Given the description of an element on the screen output the (x, y) to click on. 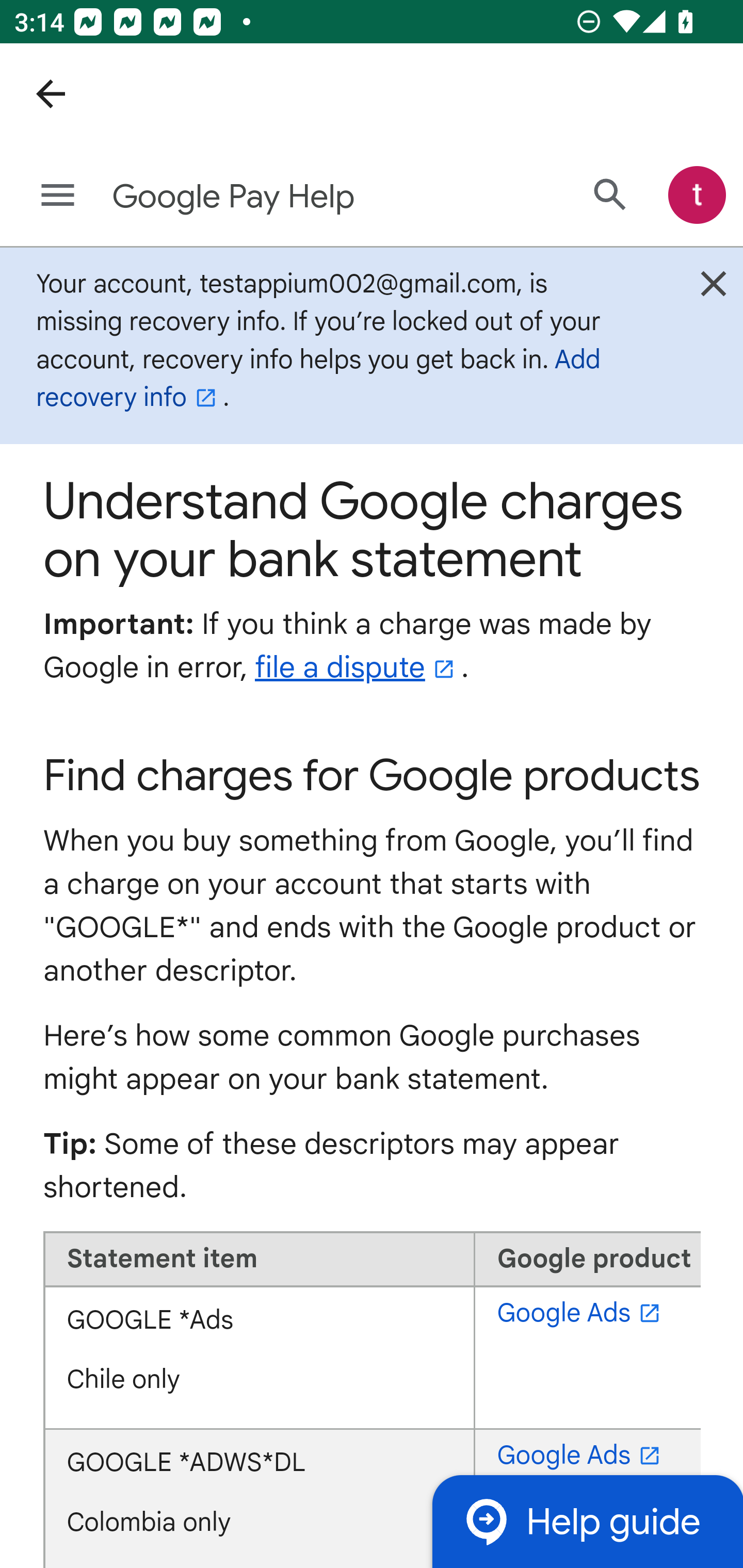
Navigate up (50, 93)
Main menu (58, 195)
Google Pay Help (292, 197)
Search Help Center (610, 195)
Close (713, 287)
Add recovery info (318, 379)
file a dispute (357, 667)
Google Ads (581, 1312)
Google Ads (581, 1454)
Help guide (587, 1520)
